Given the description of an element on the screen output the (x, y) to click on. 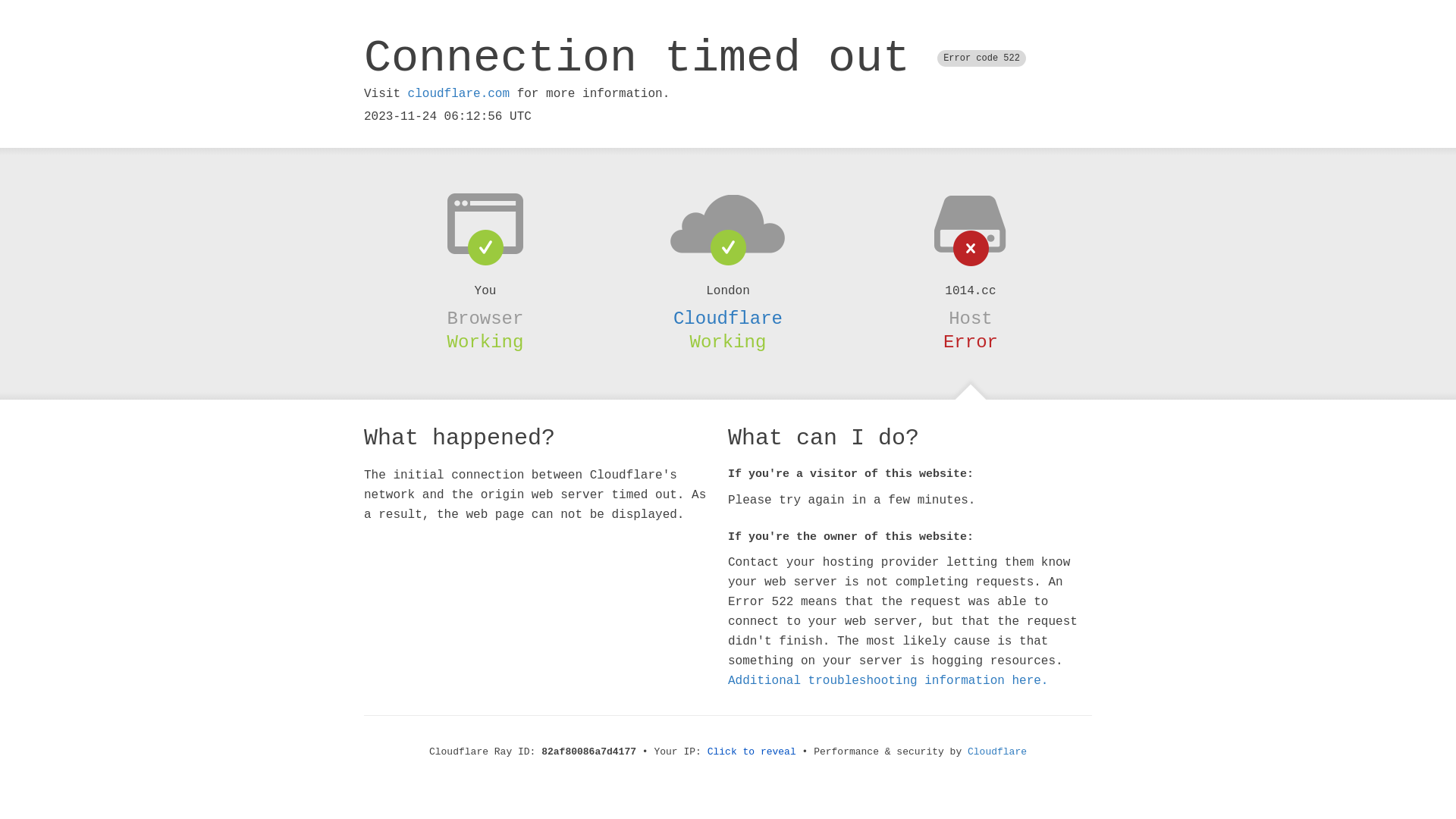
Additional troubleshooting information here. Element type: text (888, 680)
cloudflare.com Element type: text (458, 93)
Cloudflare Element type: text (727, 318)
Click to reveal Element type: text (751, 751)
Cloudflare Element type: text (996, 751)
